Given the description of an element on the screen output the (x, y) to click on. 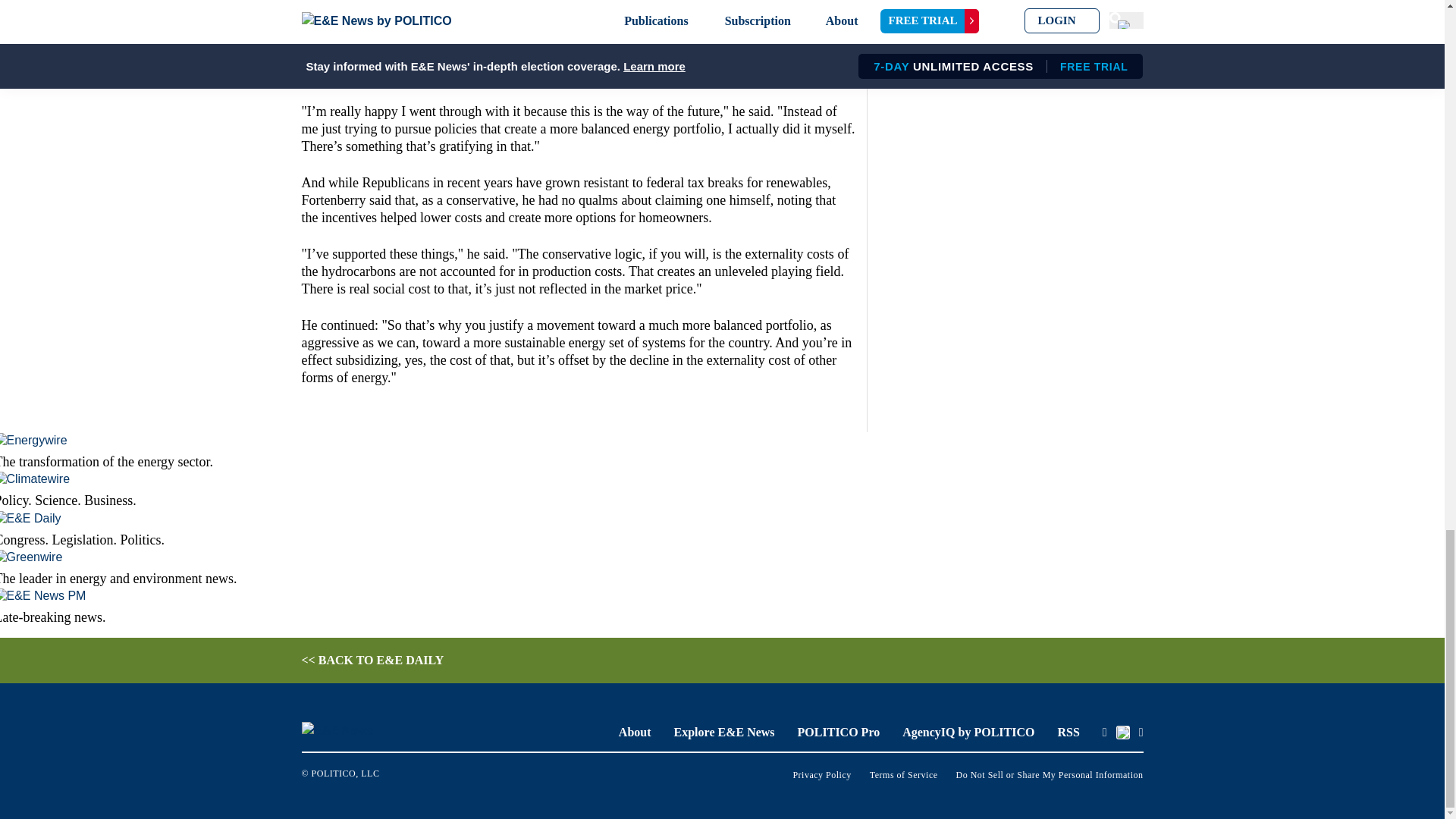
POLITICO Pro (838, 731)
The transformation of the energy sector. (417, 451)
Late-breaking news. (417, 607)
Congress. Legislation. Politics. (417, 528)
RSS (1067, 731)
The leader in energy and environment news. (417, 568)
About (634, 731)
AgencyIQ by POLITICO (967, 731)
Policy. Science. Business. (417, 489)
